Given the description of an element on the screen output the (x, y) to click on. 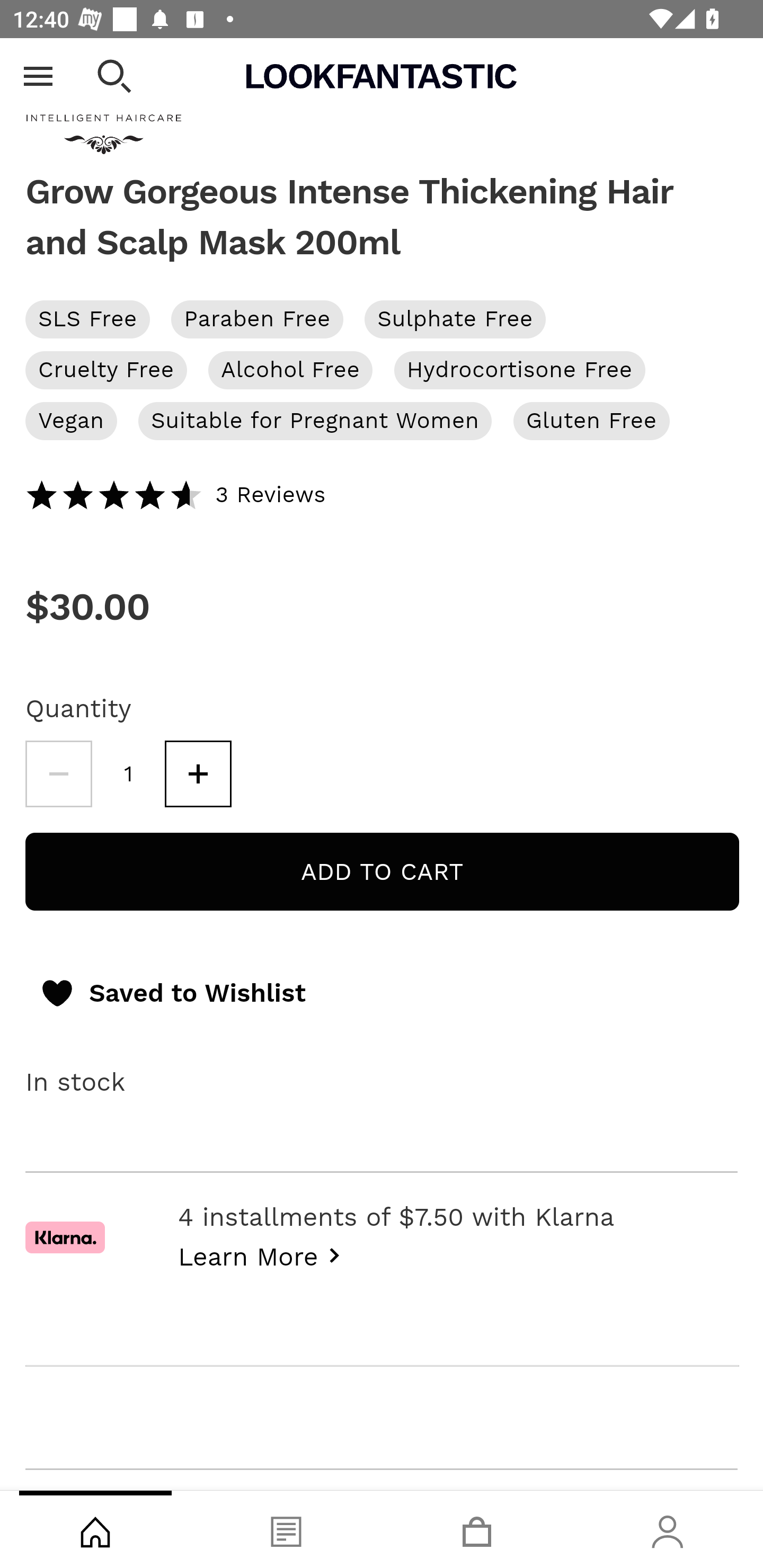
Grow Gorgeous (381, 107)
Decrease quantity (58, 774)
1, Quantity (128, 774)
Increase quantity (197, 774)
Add to cart (382, 872)
Saved to Wishlist (172, 994)
Learn More about klarna_slice (263, 1255)
Shop, tab, 1 of 4 (95, 1529)
Blog, tab, 2 of 4 (285, 1529)
Basket, tab, 3 of 4 (476, 1529)
Account, tab, 4 of 4 (667, 1529)
